Given the description of an element on the screen output the (x, y) to click on. 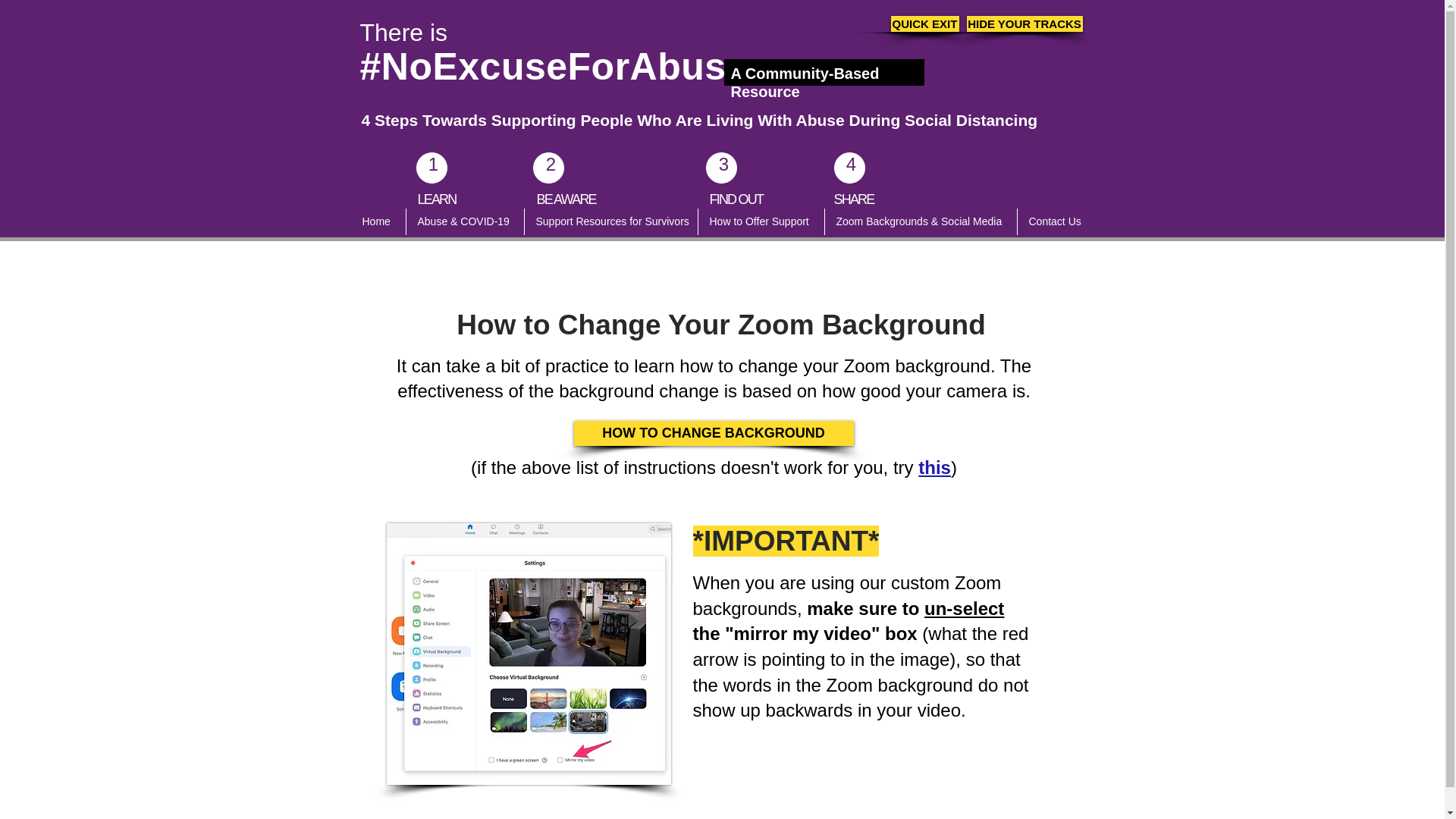
HOW TO CHANGE BACKGROUND (713, 432)
QUICK EXIT (923, 23)
HIDE YOUR TRACKS (1023, 23)
Support Resources for Survivors (610, 221)
this (934, 467)
Home (377, 221)
How to Offer Support (760, 221)
Contact Us (1055, 221)
